Given the description of an element on the screen output the (x, y) to click on. 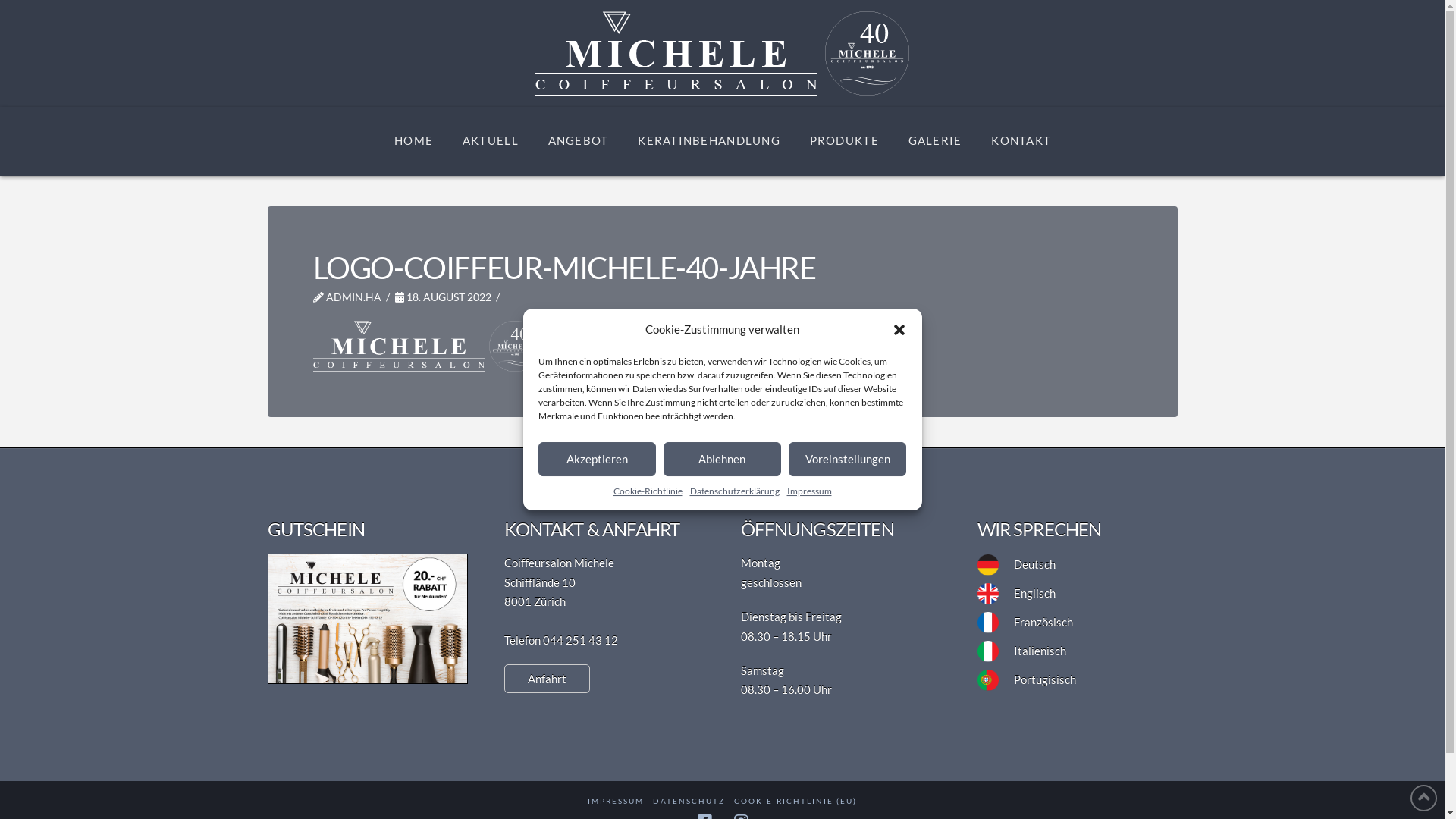
Impressum Element type: text (809, 490)
HOME Element type: text (413, 140)
Akzeptieren Element type: text (596, 459)
Cookie-Richtlinie Element type: text (646, 490)
DATENSCHUTZ Element type: text (688, 801)
COOKIE-RICHTLINIE (EU) Element type: text (795, 801)
Voreinstellungen Element type: text (847, 459)
Back to Top Element type: hover (1423, 797)
GALERIE Element type: text (934, 140)
AKTUELL Element type: text (490, 140)
ANGEBOT Element type: text (578, 140)
PRODUKTE Element type: text (843, 140)
Ablehnen Element type: text (722, 459)
KONTAKT Element type: text (1020, 140)
KERATINBEHANDLUNG Element type: text (707, 140)
IMPRESSUM Element type: text (615, 801)
Anfahrt Element type: text (546, 678)
